Given the description of an element on the screen output the (x, y) to click on. 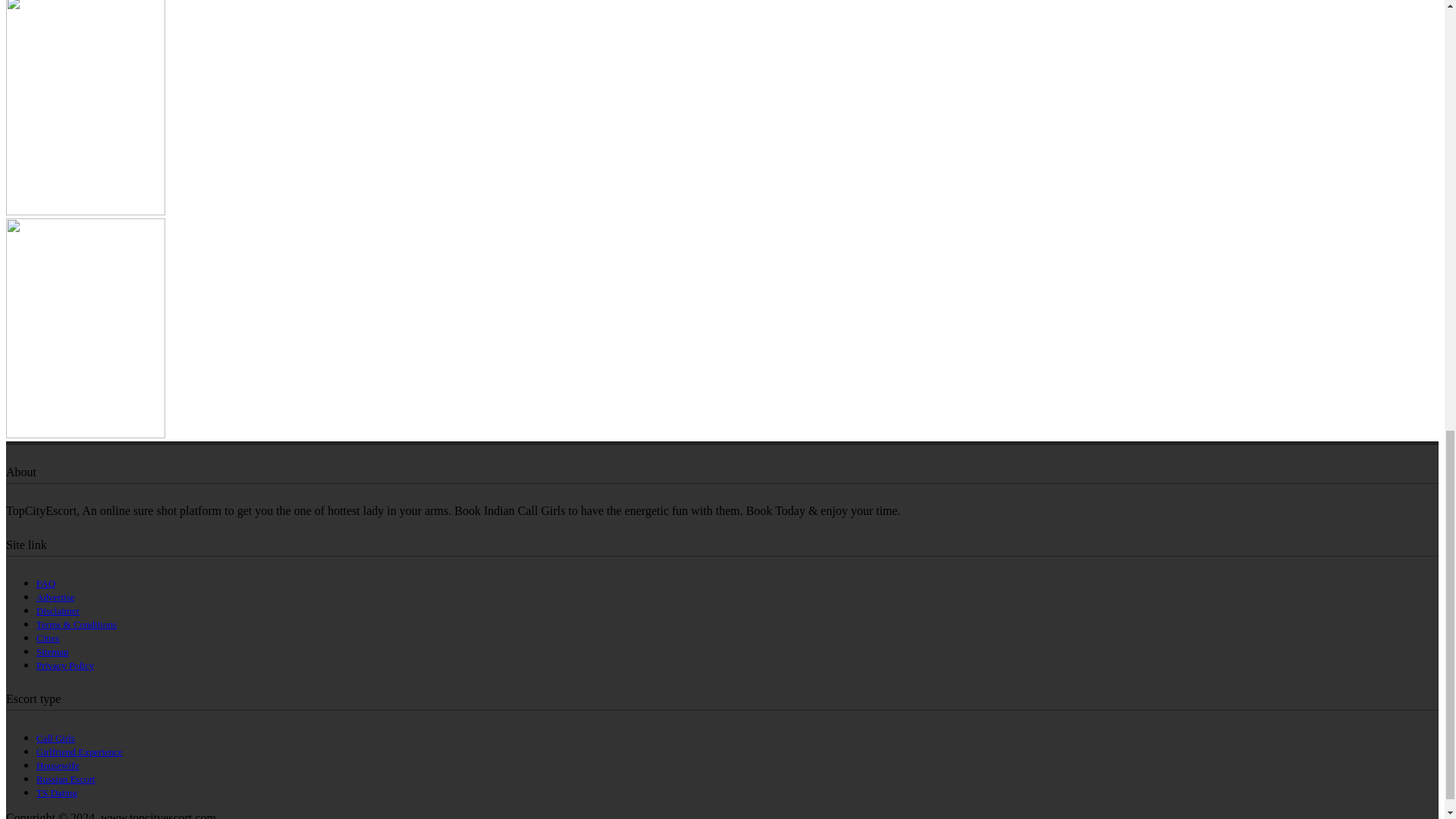
Russian Escort (66, 778)
Cities (47, 637)
Sitemap (52, 651)
Housewife (57, 765)
Privacy Policy (65, 665)
Disclaimer (58, 610)
TS Dating (56, 792)
Call Girls (55, 737)
Disclaimer (58, 610)
Girlfriend Experience (79, 751)
Advertise (55, 596)
Call Girls (55, 737)
FAQ (45, 583)
Russian Escort (66, 778)
Privacy Policy (65, 665)
